Given the description of an element on the screen output the (x, y) to click on. 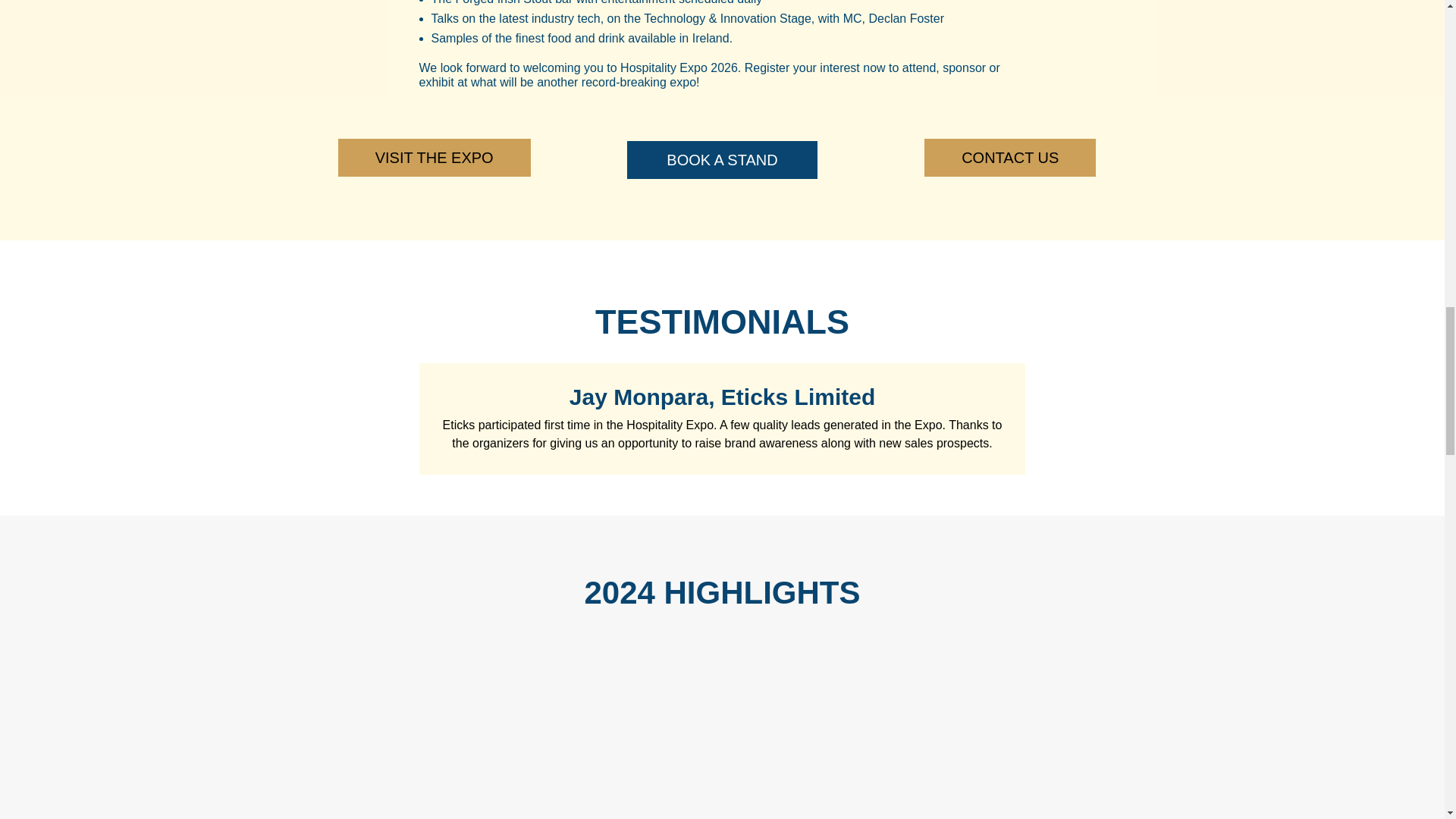
VISIT THE EXPO (434, 157)
BOOK A STAND (721, 159)
CONTACT US (1010, 157)
Hospitality Expo 2024 -  Highlights Part 2 (937, 736)
Hospitality Expo 2024 - Highlights Part 1 (505, 736)
